Given the description of an element on the screen output the (x, y) to click on. 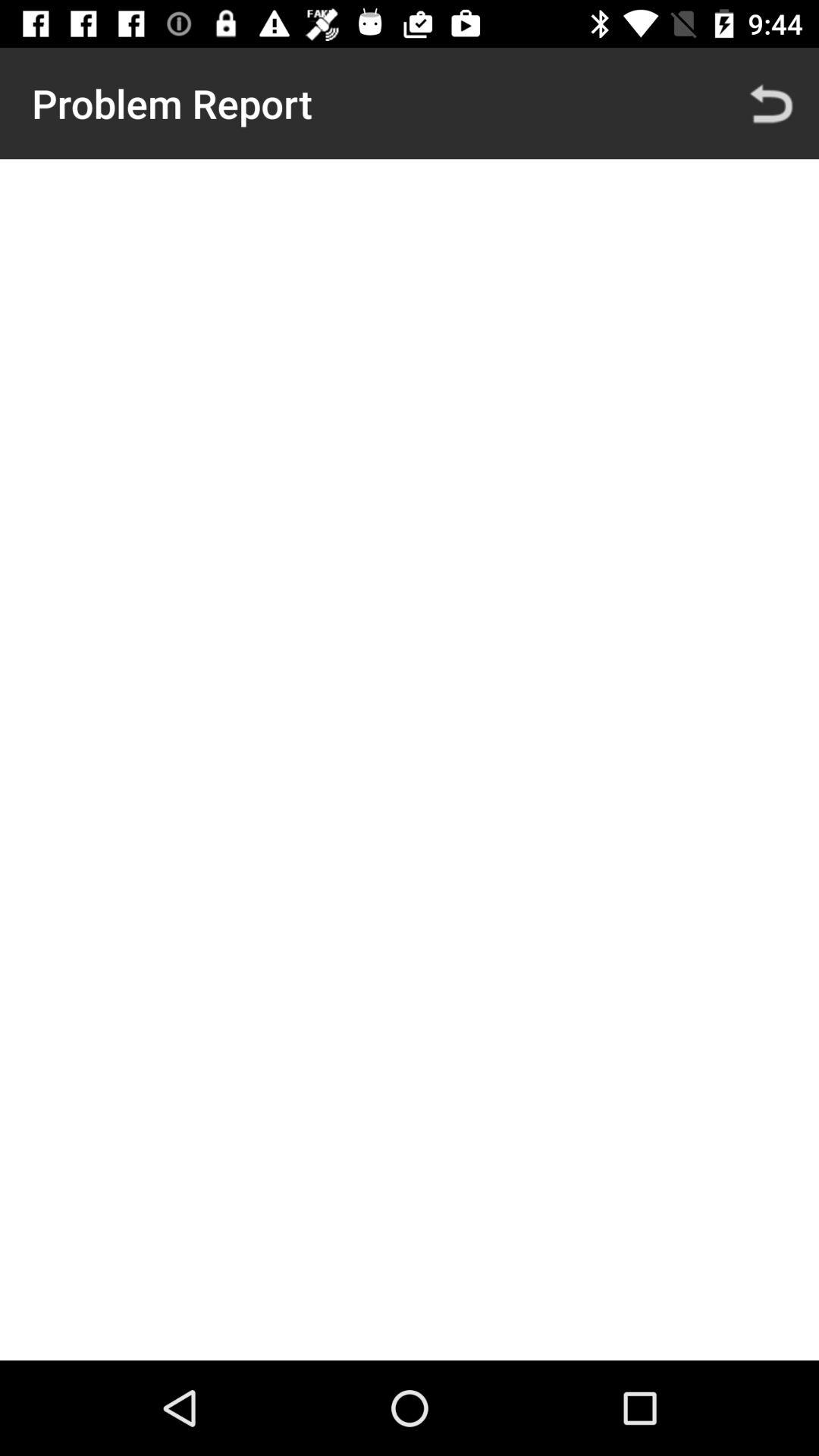
turn on the icon at the top right corner (771, 103)
